Given the description of an element on the screen output the (x, y) to click on. 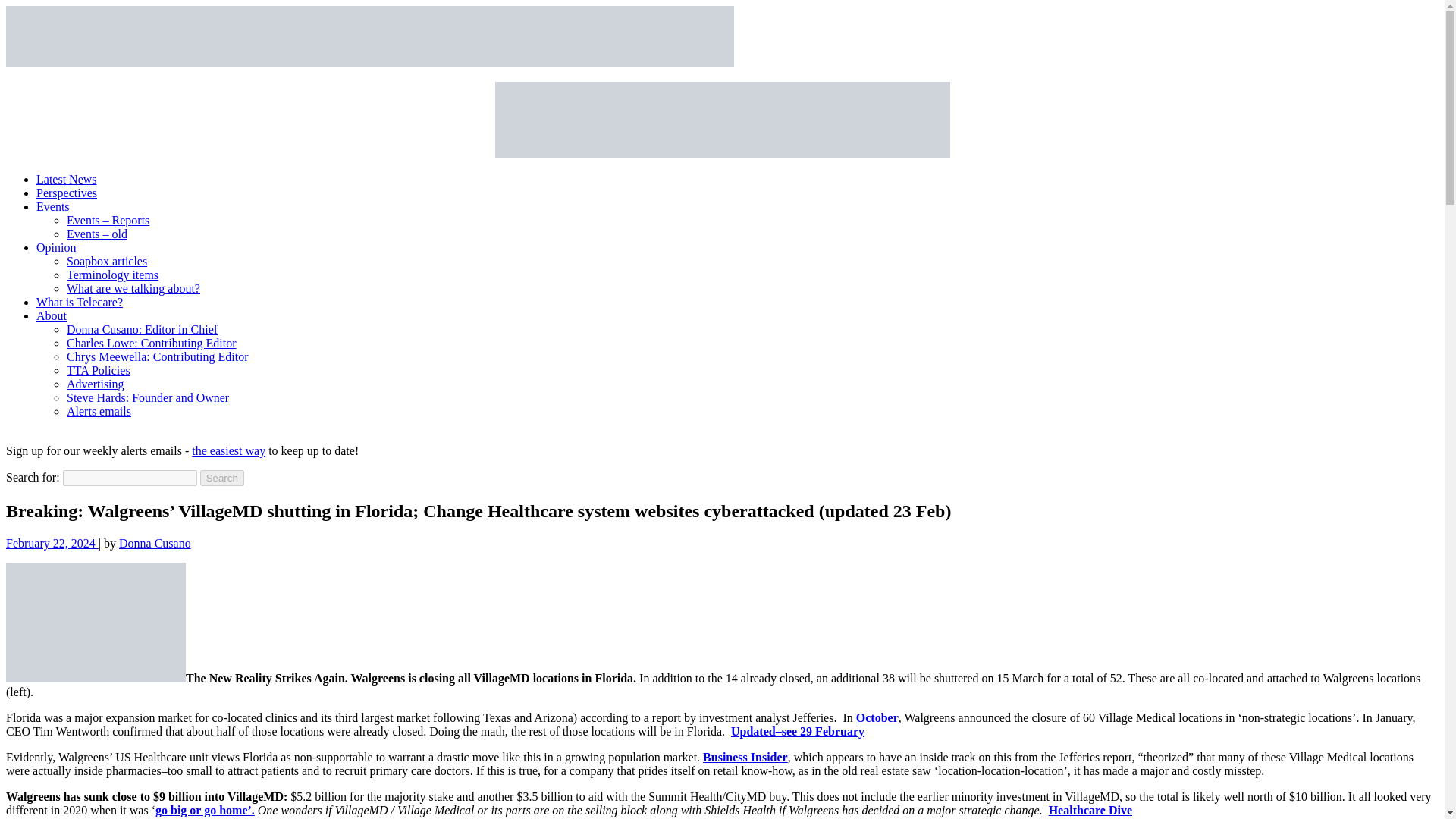
What is Telecare? (79, 301)
Steve Hards: Founder and Owner (147, 397)
Alerts emails (98, 410)
Perspectives (66, 192)
Opinion (55, 246)
Terminology items (112, 274)
Events (52, 205)
Donna Cusano: Editor in Chief (141, 328)
the easiest way (228, 450)
Chrys Meewella: Contributing Editor (157, 356)
